Given the description of an element on the screen output the (x, y) to click on. 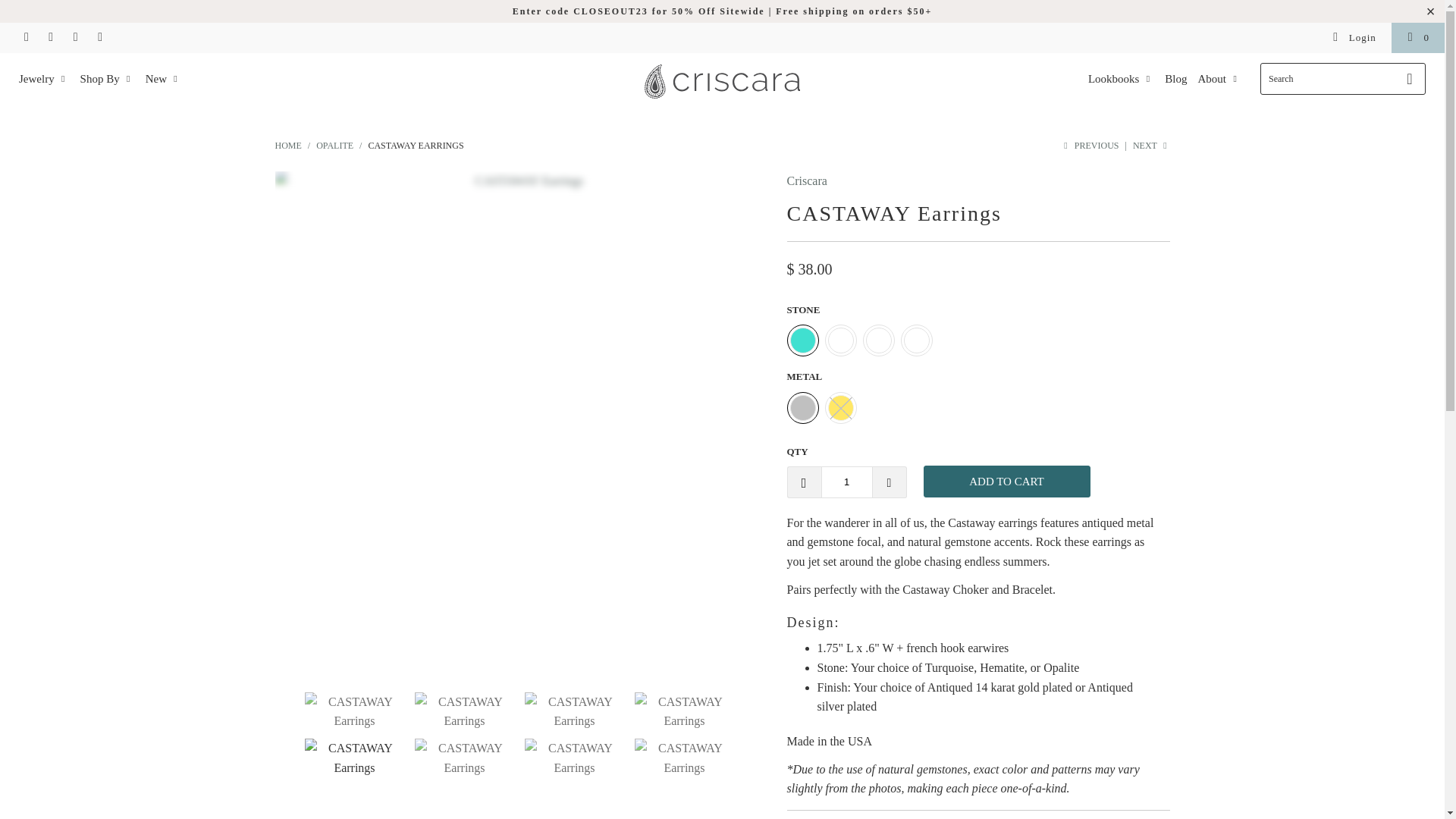
Previous (1089, 145)
Criscara (722, 83)
Criscara on Facebook (99, 37)
Criscara on Twitter (74, 37)
My Account  (1353, 37)
Criscara on Pinterest (49, 37)
Criscara (288, 145)
Criscara on Instagram (25, 37)
Opalite (334, 145)
1 (846, 481)
Next (1151, 145)
Criscara (807, 180)
